Given the description of an element on the screen output the (x, y) to click on. 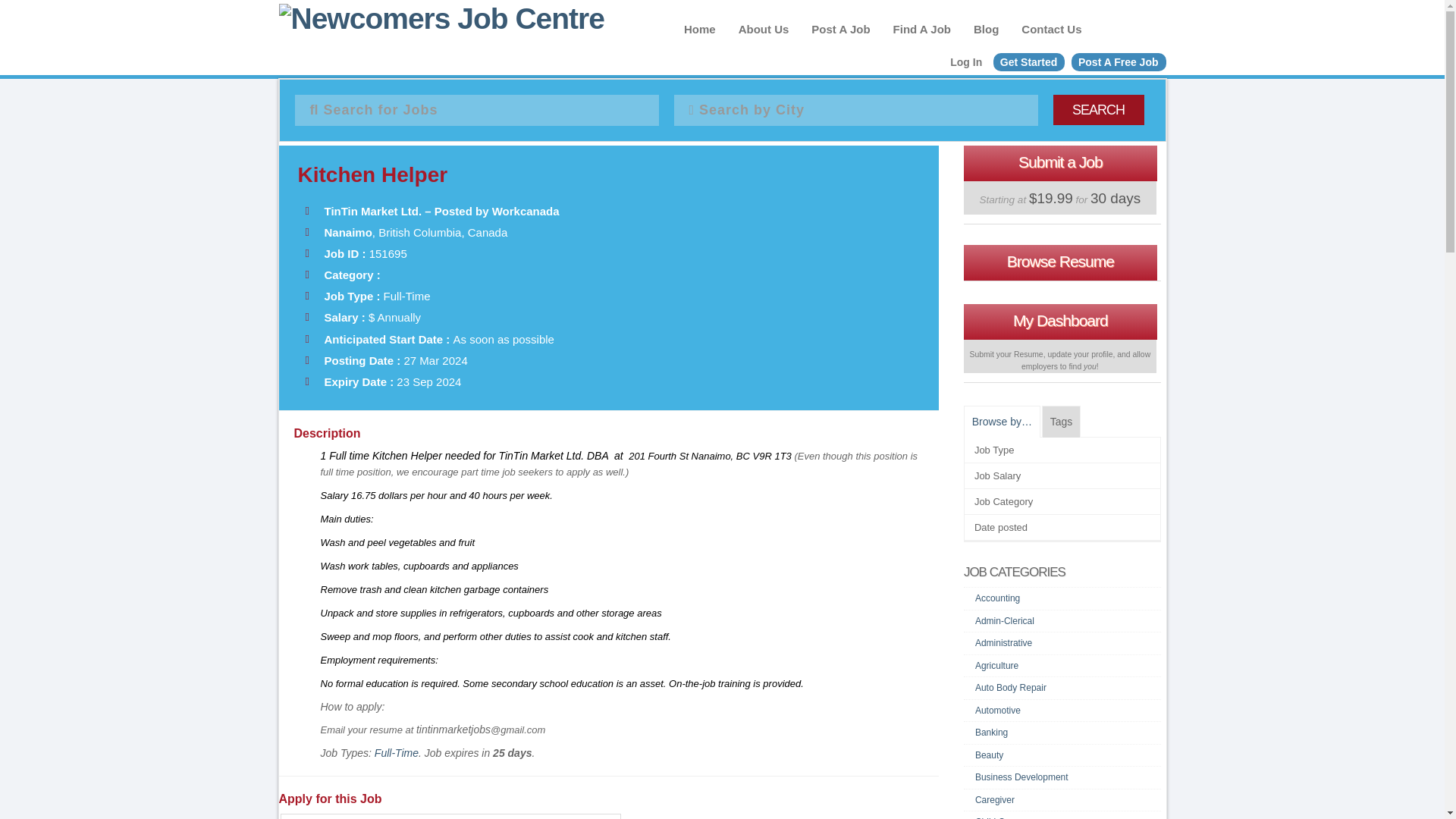
Workcanada (525, 210)
Find A Job (921, 34)
Contact Us (1051, 34)
Get Started (1028, 62)
Tags (1061, 421)
My Dashboard (1060, 321)
Tags (1061, 421)
About Us (763, 34)
Full-Time (396, 752)
Log In (966, 62)
